Given the description of an element on the screen output the (x, y) to click on. 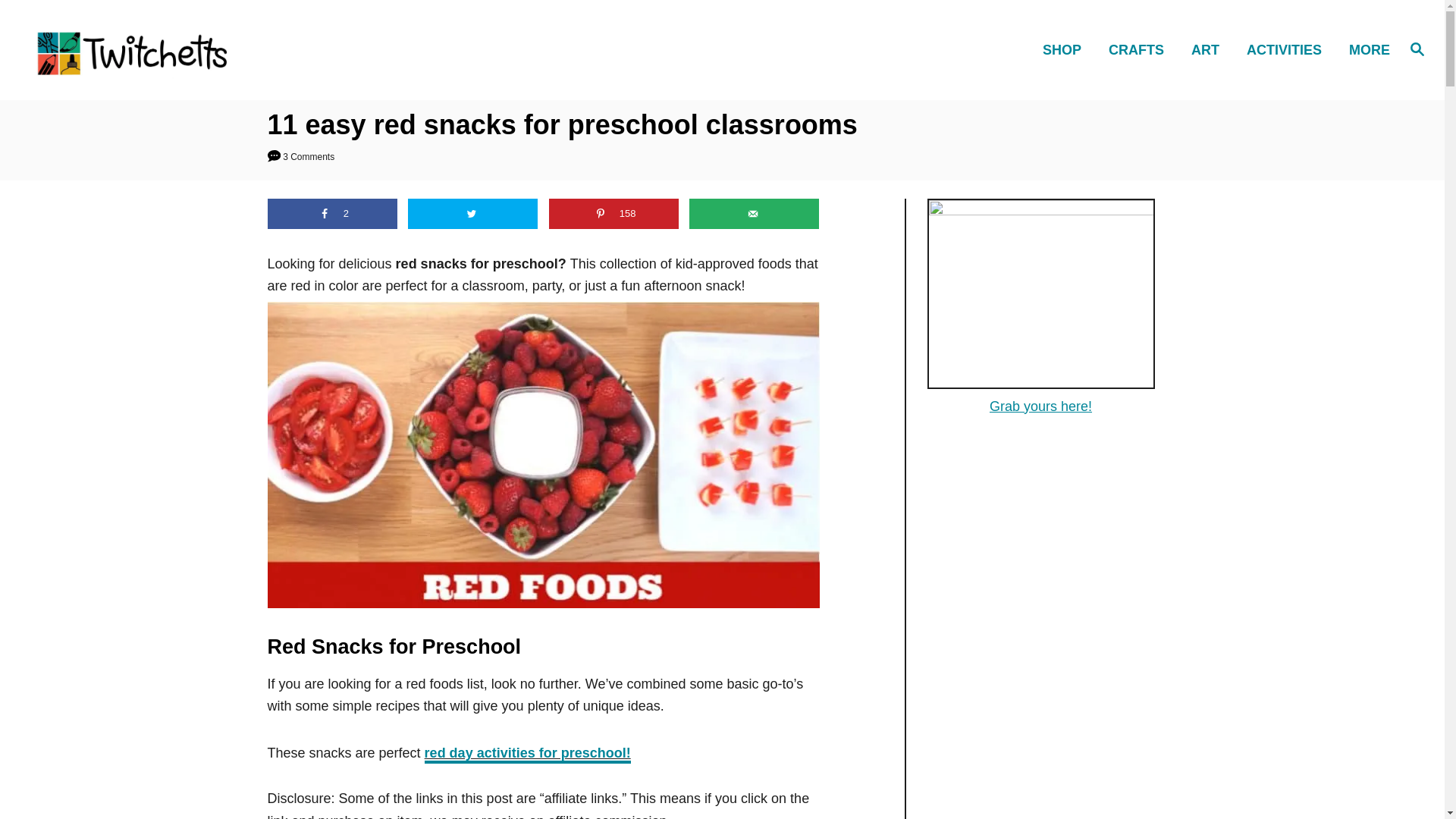
red day activities for preschool! (527, 754)
Send over email (753, 214)
SHOP (1066, 49)
Twitchetts (204, 49)
Share on Twitter (472, 214)
Magnifying Glass (1416, 48)
Grab yours here! (1041, 406)
CRAFTS (1140, 49)
Share on Facebook (331, 214)
ACTIVITIES (1288, 49)
